Given the description of an element on the screen output the (x, y) to click on. 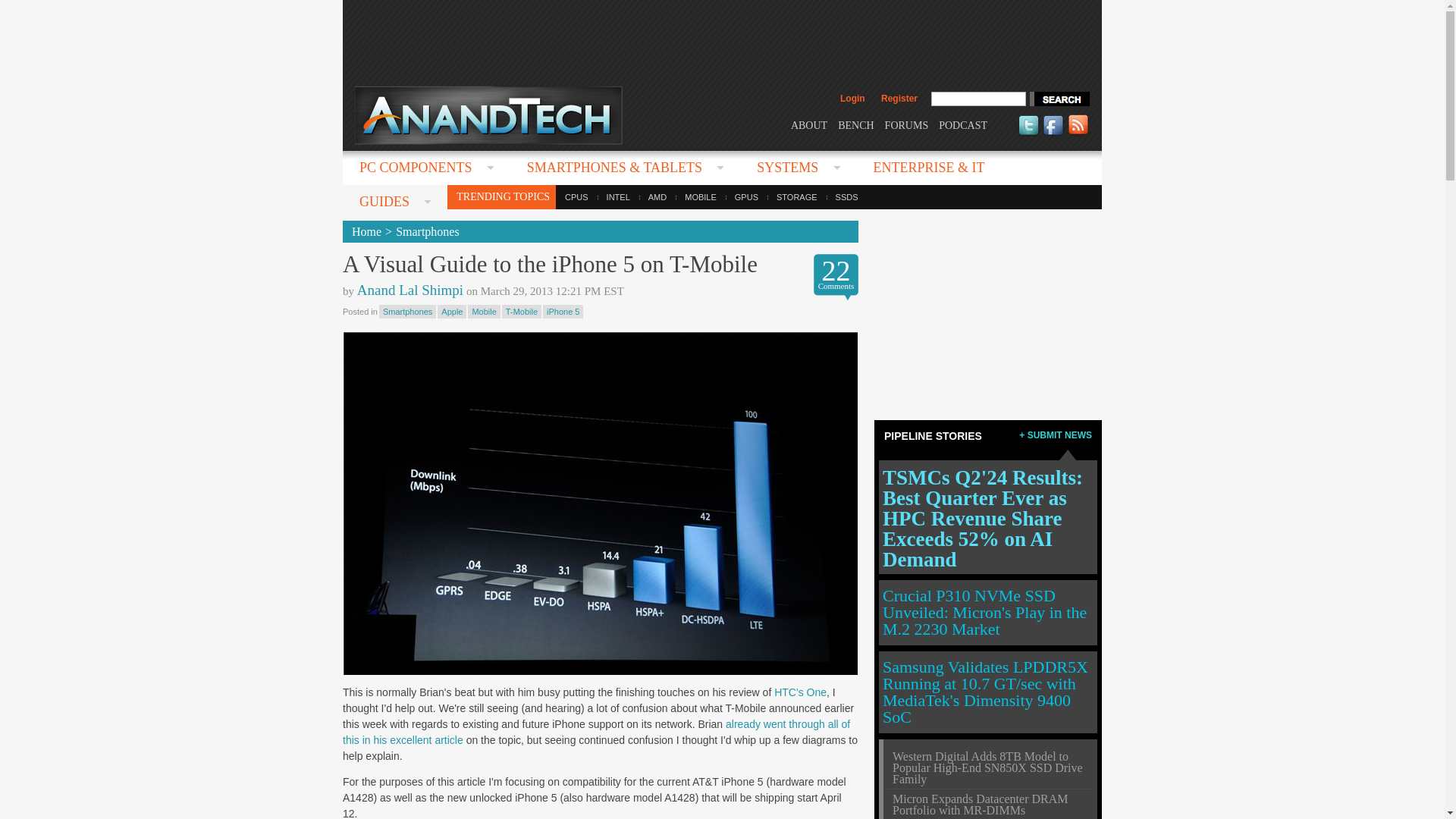
search (1059, 98)
Register (898, 98)
FORUMS (906, 125)
ABOUT (808, 125)
search (1059, 98)
Login (852, 98)
BENCH (855, 125)
PODCAST (963, 125)
search (1059, 98)
